Given the description of an element on the screen output the (x, y) to click on. 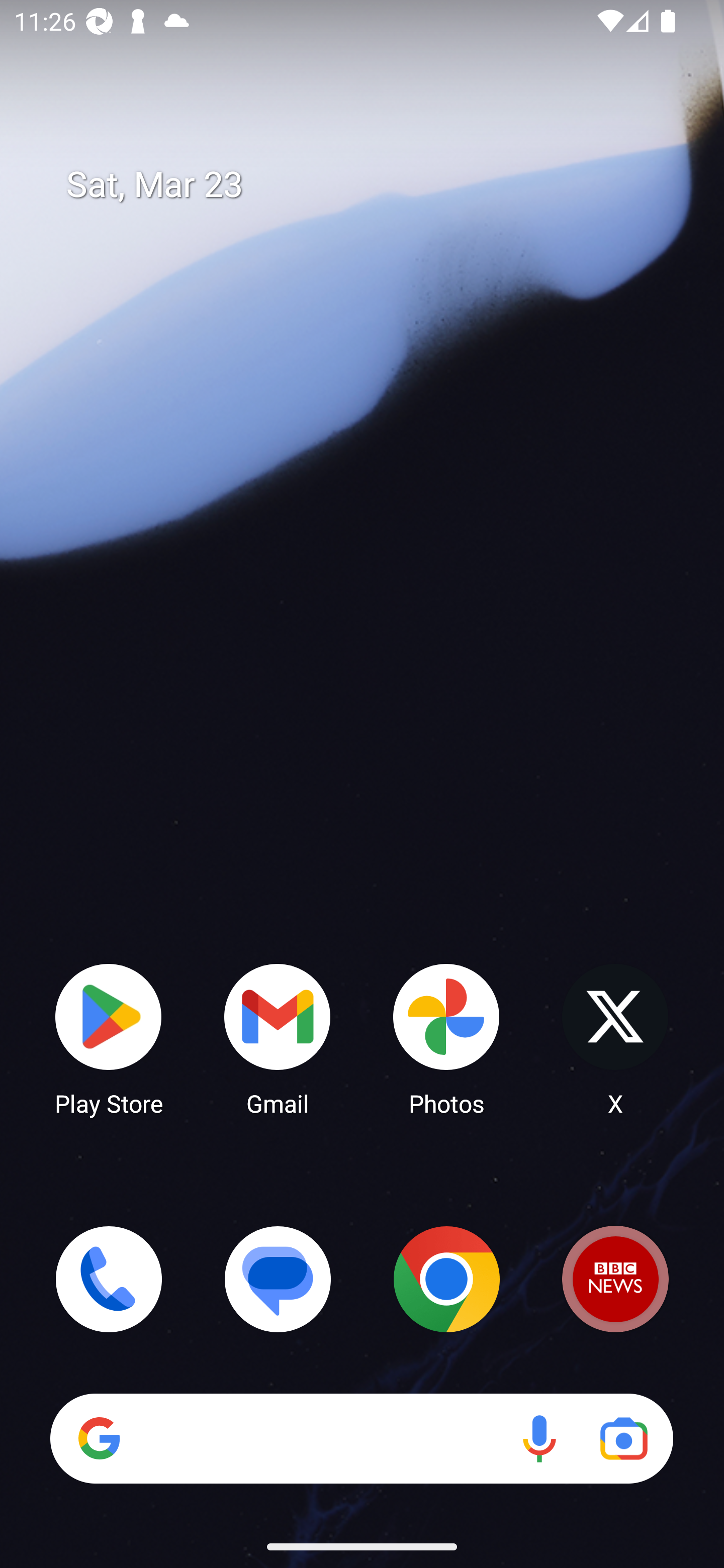
Sat, Mar 23 (375, 184)
Play Store (108, 1038)
Gmail (277, 1038)
Photos (445, 1038)
X (615, 1038)
Phone (108, 1279)
Messages (277, 1279)
Chrome (446, 1279)
BBC News Predicted app: BBC News (615, 1279)
Voice search (539, 1438)
Google Lens (623, 1438)
